Given the description of an element on the screen output the (x, y) to click on. 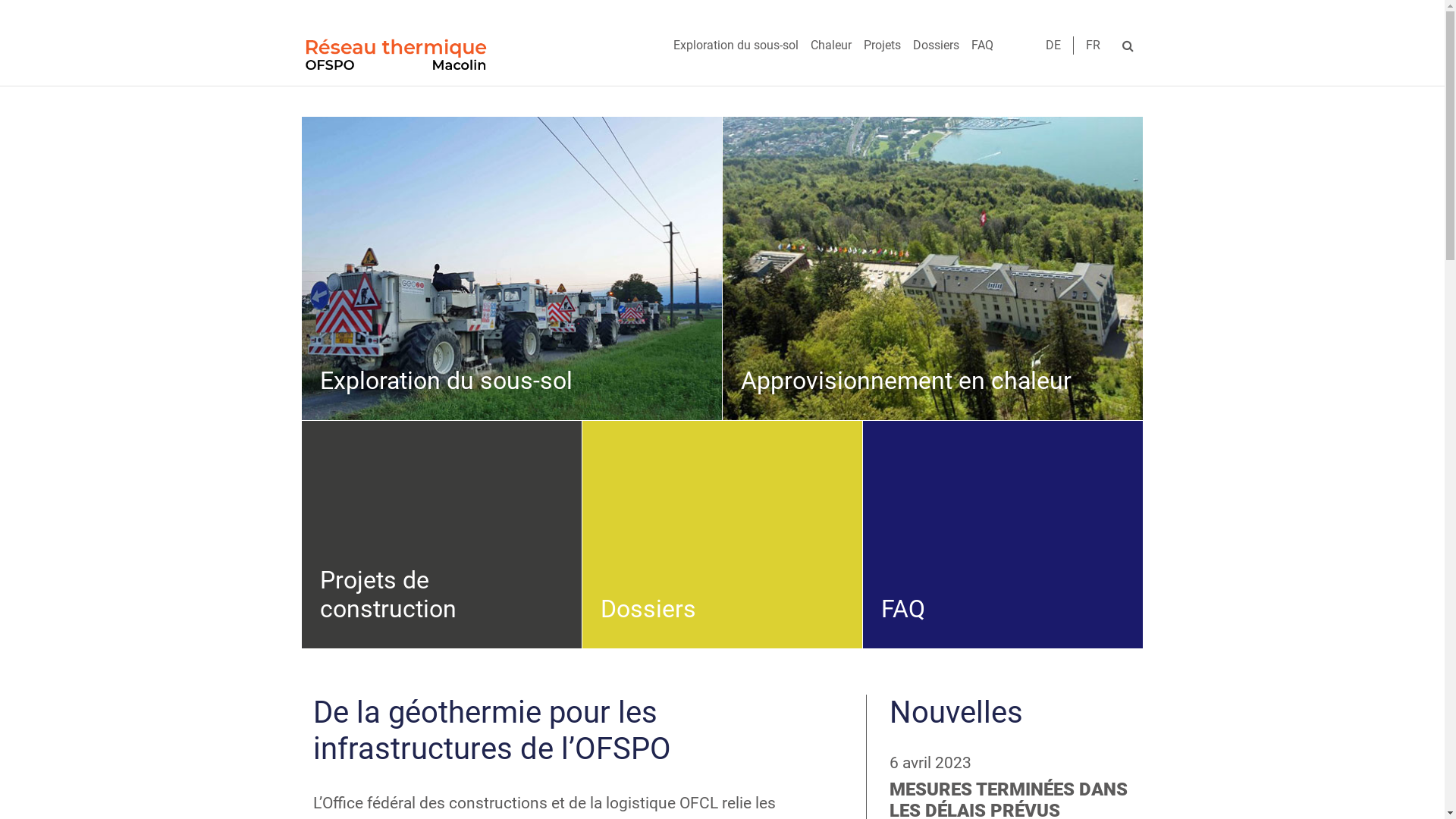
FAQ Element type: text (981, 45)
Dossiers Element type: text (935, 45)
DE Element type: text (1052, 45)
Projets Element type: text (881, 45)
FR Element type: text (1092, 45)
Chaleur Element type: text (829, 45)
Exploration du sous-sol Element type: text (735, 45)
